Given the description of an element on the screen output the (x, y) to click on. 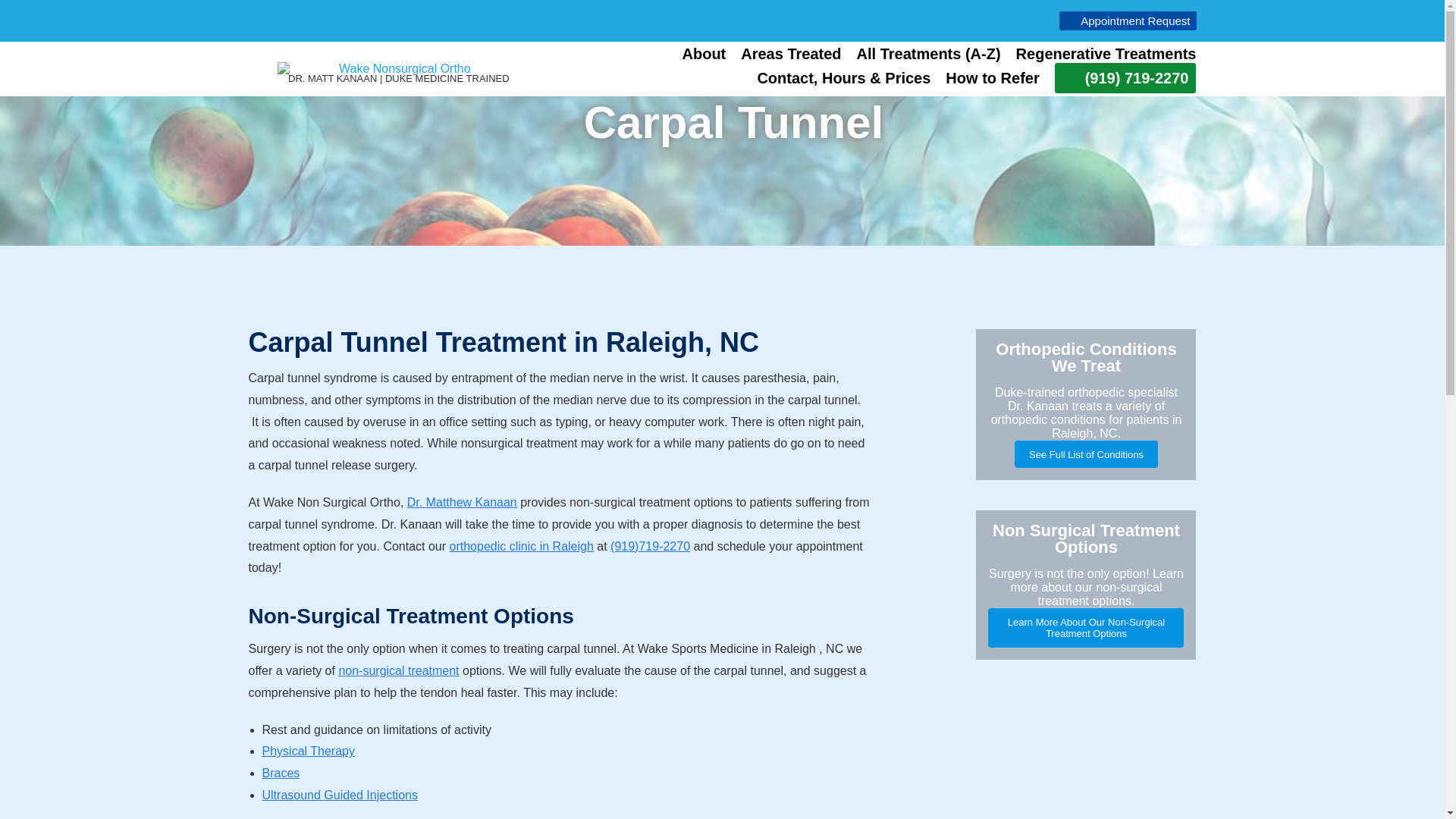
Appointment Request (1127, 20)
Areas Treated (791, 54)
About (704, 54)
About (704, 54)
Areas Treated (791, 54)
